Given the description of an element on the screen output the (x, y) to click on. 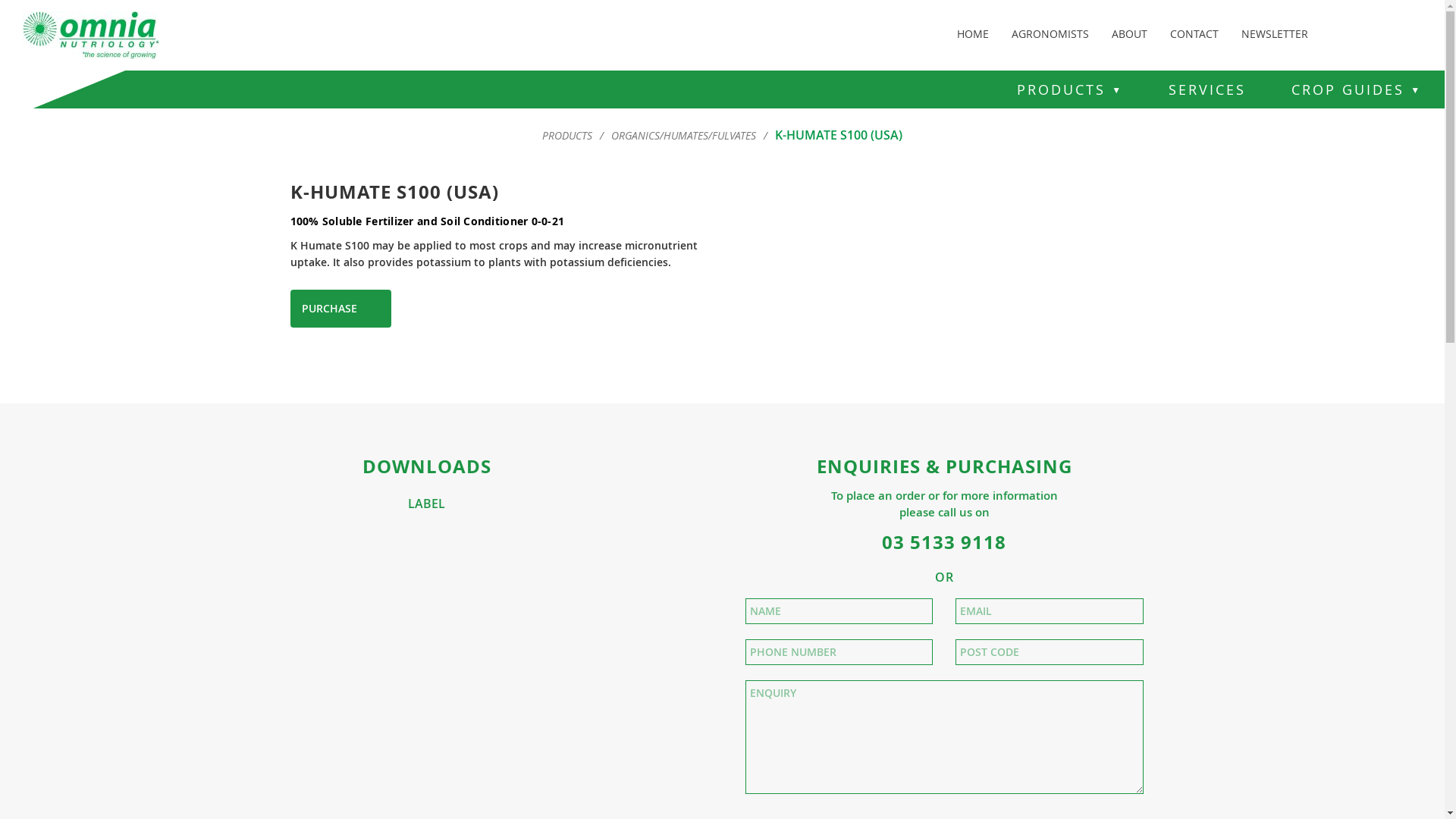
SERVICES Element type: text (1207, 89)
PRODUCTS Element type: text (567, 135)
LABEL Element type: text (425, 503)
03 5133 9118 Element type: text (943, 542)
AGRONOMISTS Element type: text (1050, 29)
PURCHASE Element type: text (339, 308)
ORGANICS/HUMATES/FULVATES Element type: text (683, 135)
CONTACT Element type: text (1194, 29)
NEWSLETTER Element type: text (1274, 29)
ABOUT Element type: text (1129, 29)
HOME Element type: text (972, 29)
